Given the description of an element on the screen output the (x, y) to click on. 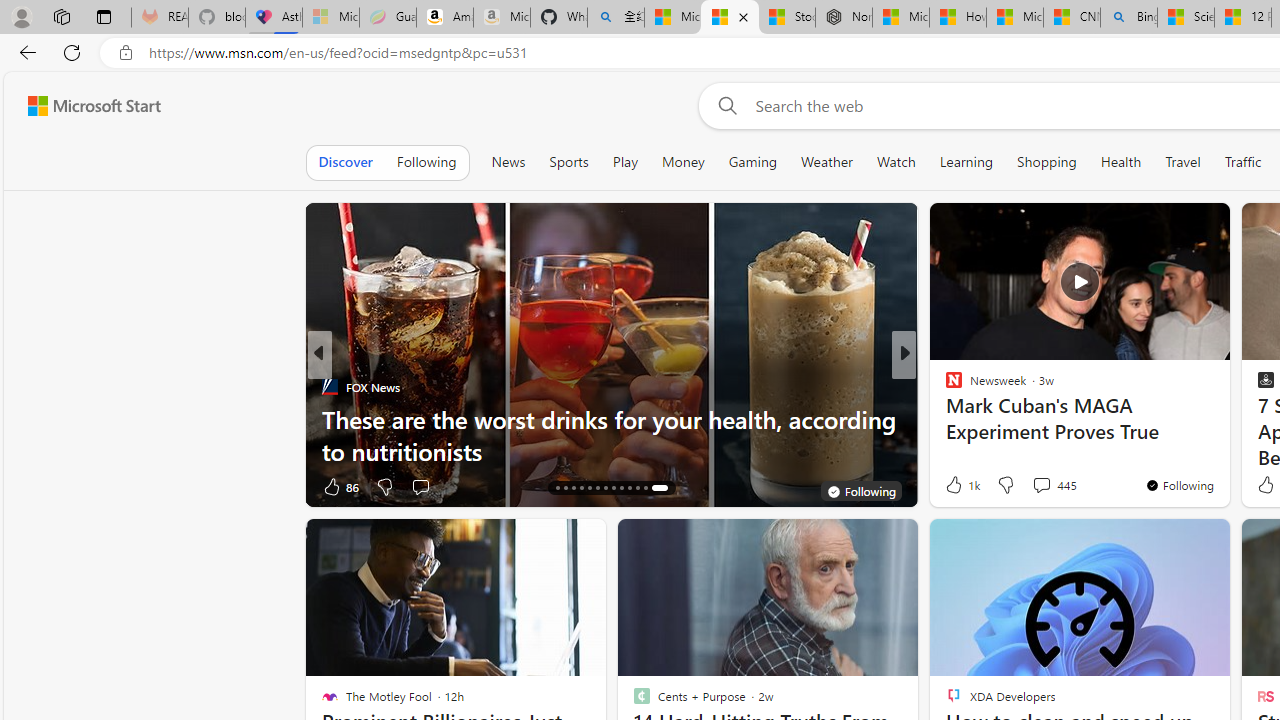
AutomationID: tab-21 (613, 487)
AutomationID: tab-15 (564, 487)
How I Got Rid of Microsoft Edge's Unnecessary Features (957, 17)
You're following FOX News (861, 490)
